Given the description of an element on the screen output the (x, y) to click on. 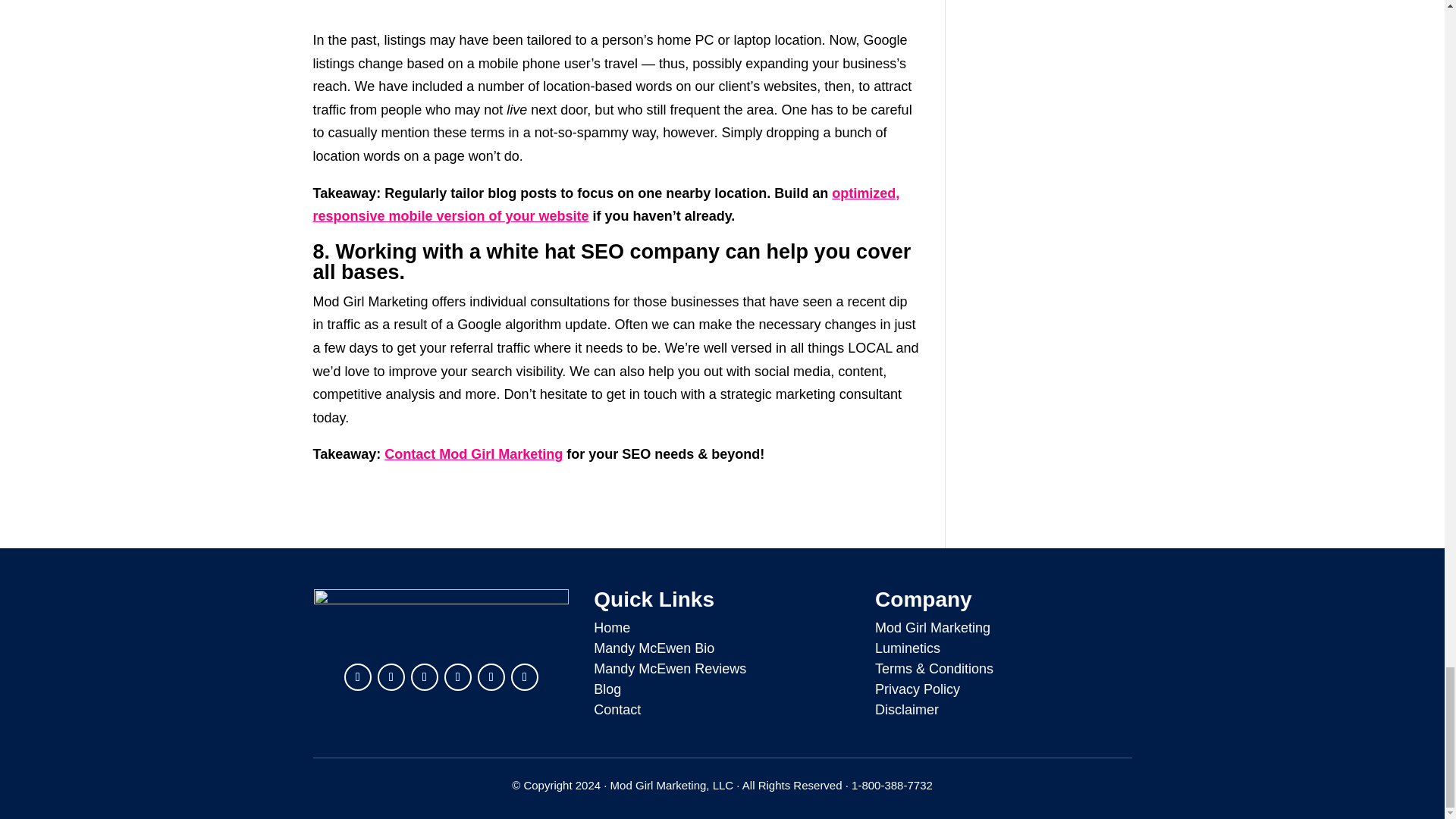
Contact (617, 709)
Blog (607, 688)
mm-logo (441, 619)
Mandy McEwen Bio (654, 648)
Follow on Youtube (457, 677)
Follow on LinkedIn (357, 677)
Contact Mod Girl Marketing (473, 453)
Follow on TikTok (524, 677)
Follow on X (390, 677)
Follow on Facebook (424, 677)
Luminetics (907, 648)
Follow on Instagram (491, 677)
Home (612, 627)
optimized, responsive mobile version of your website (606, 204)
Mod Girl Marketing (932, 627)
